Given the description of an element on the screen output the (x, y) to click on. 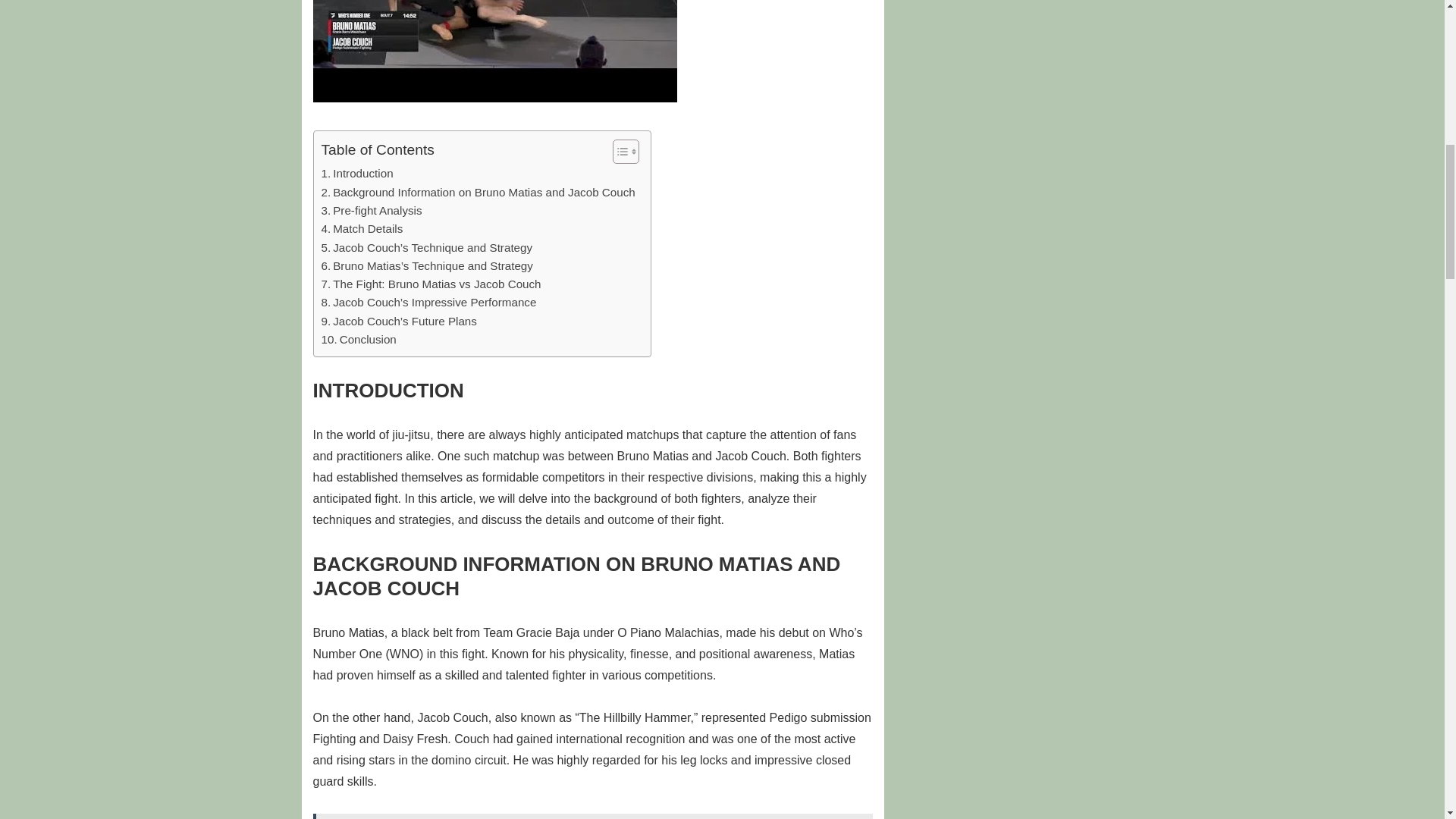
Introduction (357, 173)
Background Information on Bruno Matias and Jacob Couch (477, 192)
Pre-fight Analysis (371, 210)
Introduction (357, 173)
Match Details (362, 229)
Match Details (362, 229)
Conclusion (358, 339)
Background Information on Bruno Matias and Jacob Couch (477, 192)
